Given the description of an element on the screen output the (x, y) to click on. 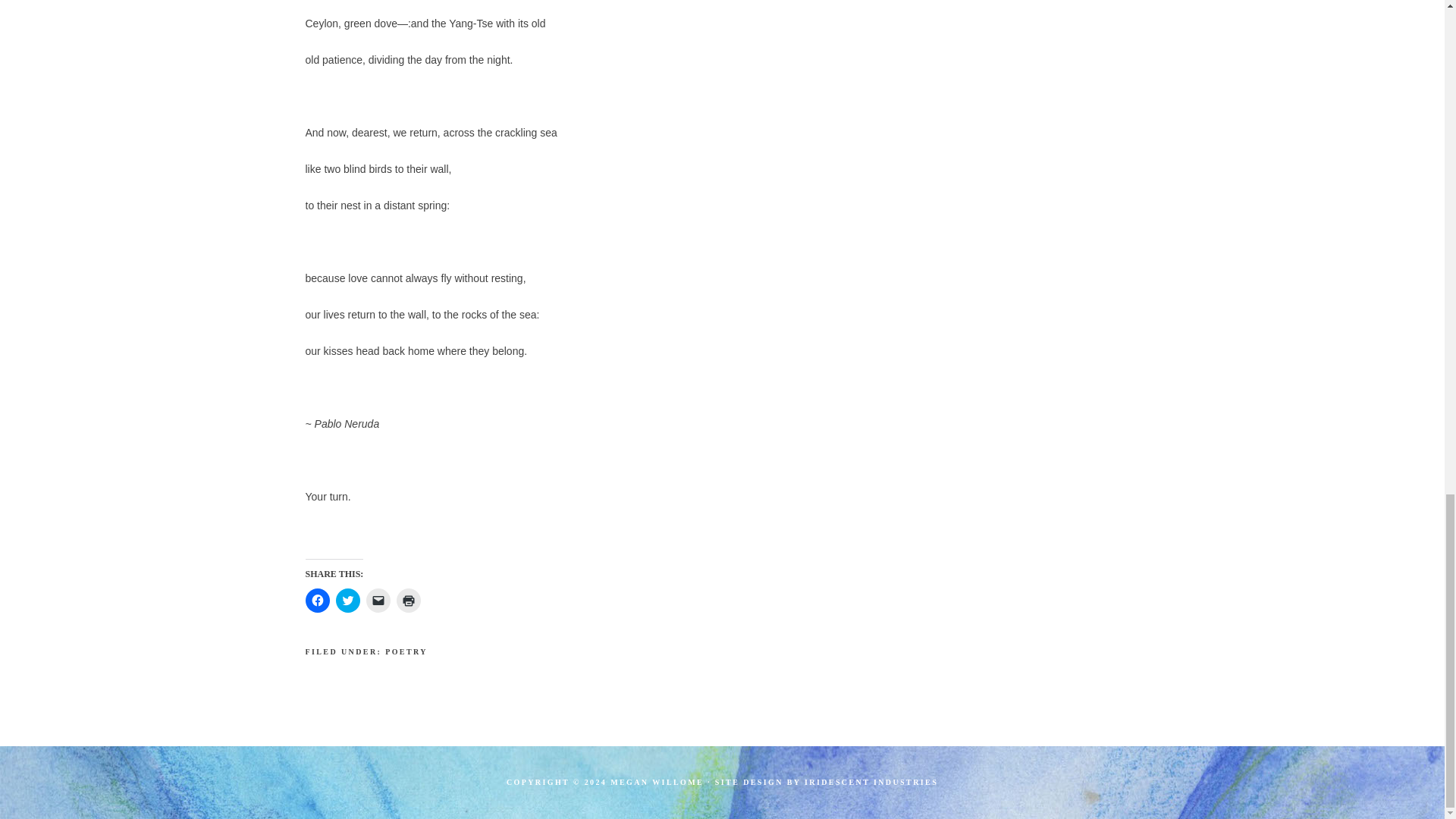
POETRY (406, 651)
IRIDESCENT INDUSTRIES (871, 782)
Click to share on Twitter (346, 600)
Click to share on Facebook (316, 600)
Click to print (408, 600)
Click to email a link to a friend (377, 600)
